Given the description of an element on the screen output the (x, y) to click on. 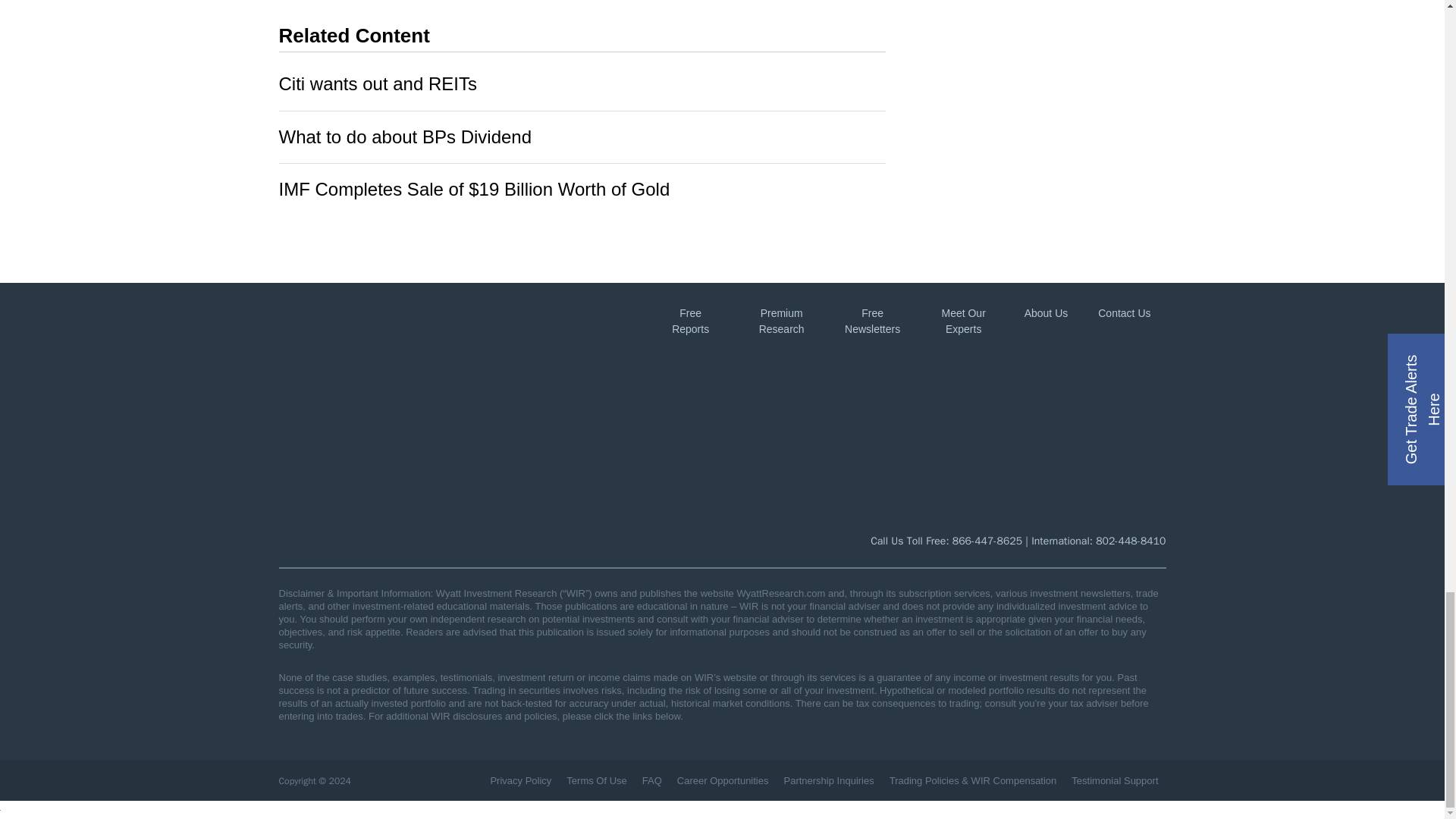
Citi wants out and REITs (378, 83)
What to do about BPs Dividend (405, 136)
